Given the description of an element on the screen output the (x, y) to click on. 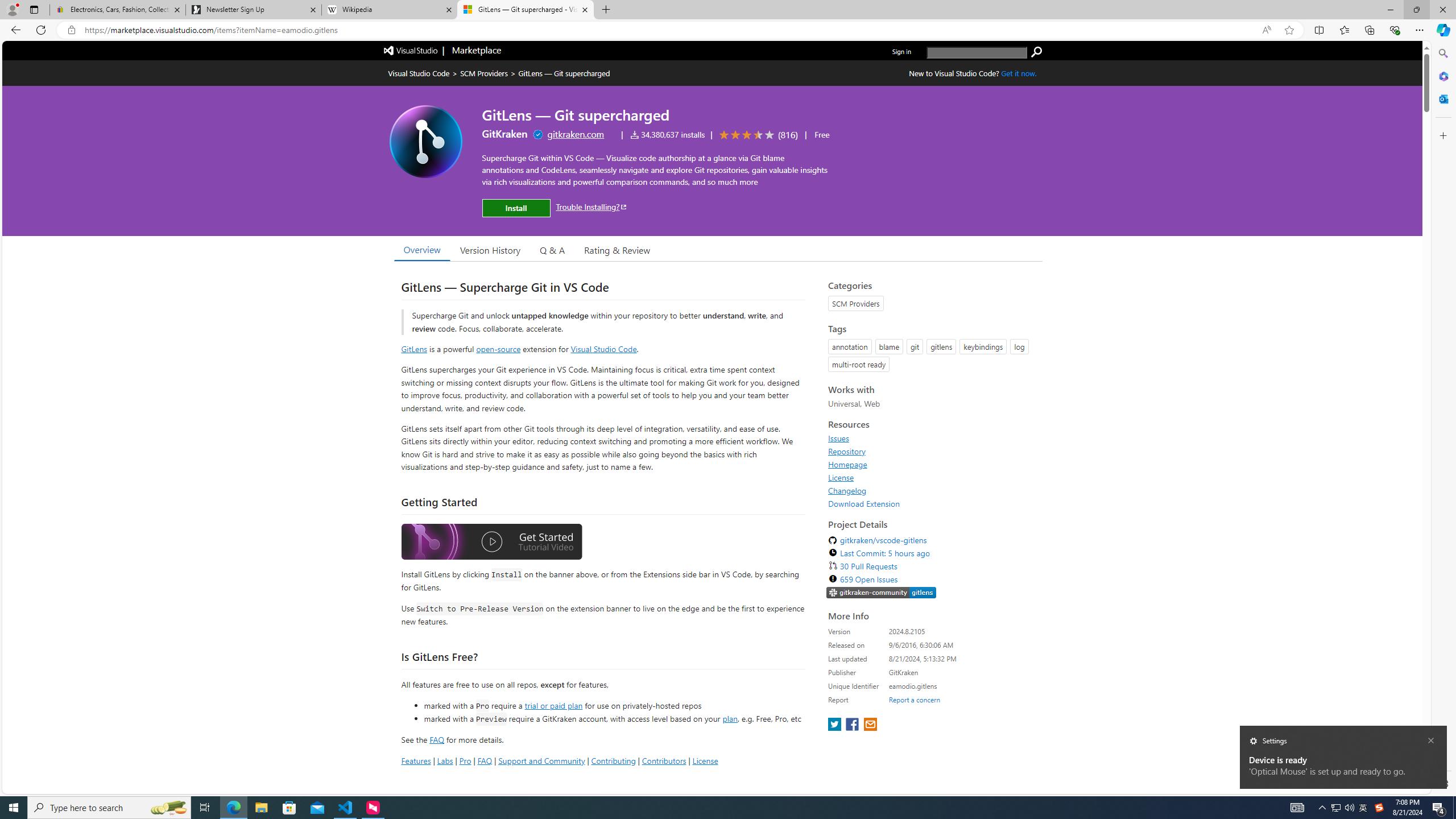
Report a concern (914, 699)
Repository (847, 451)
More from GitKraken publisher (504, 133)
Visual Studio Code (603, 348)
Watch the GitLens Getting Started video (491, 542)
License (840, 477)
Download Extension (863, 503)
trial or paid plan (553, 704)
